Given the description of an element on the screen output the (x, y) to click on. 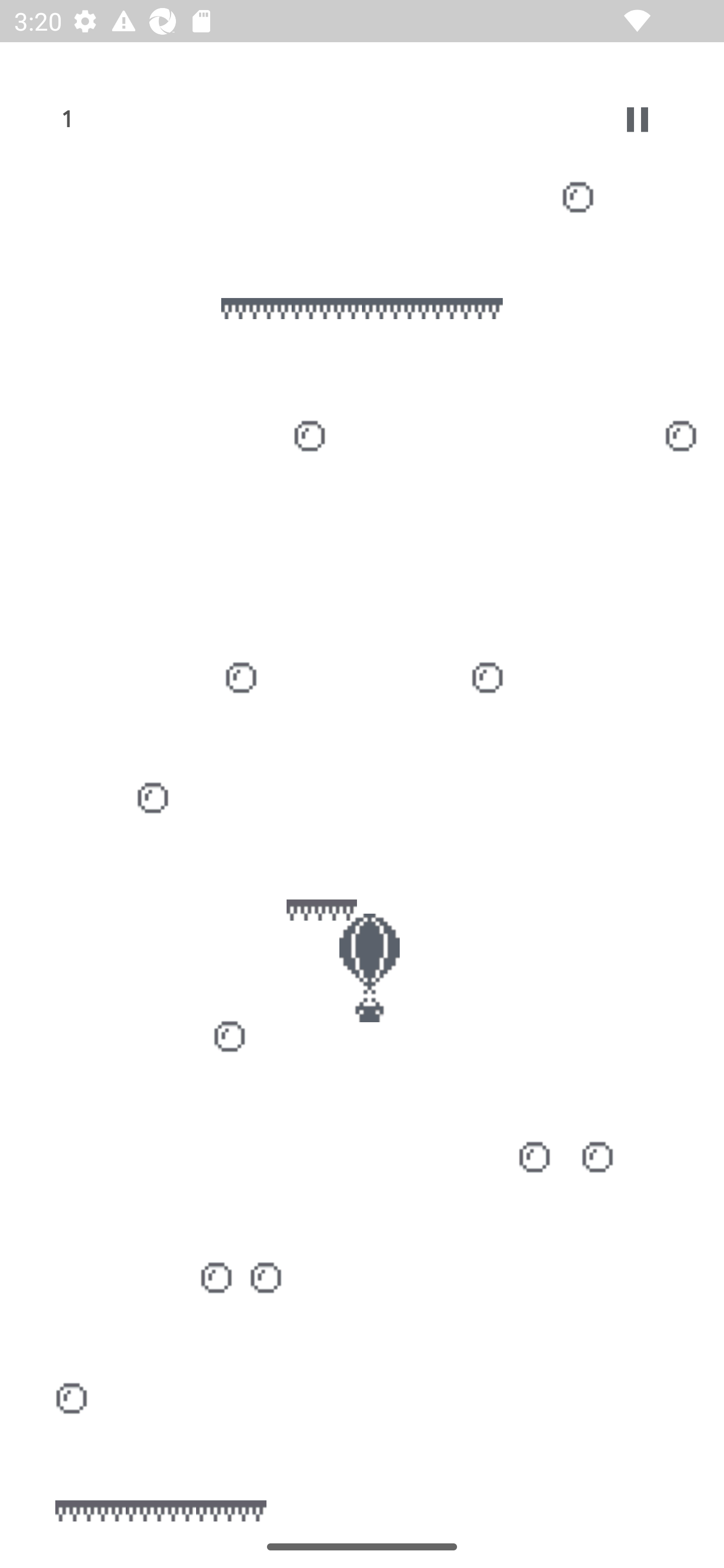
Pause Game (637, 118)
